Given the description of an element on the screen output the (x, y) to click on. 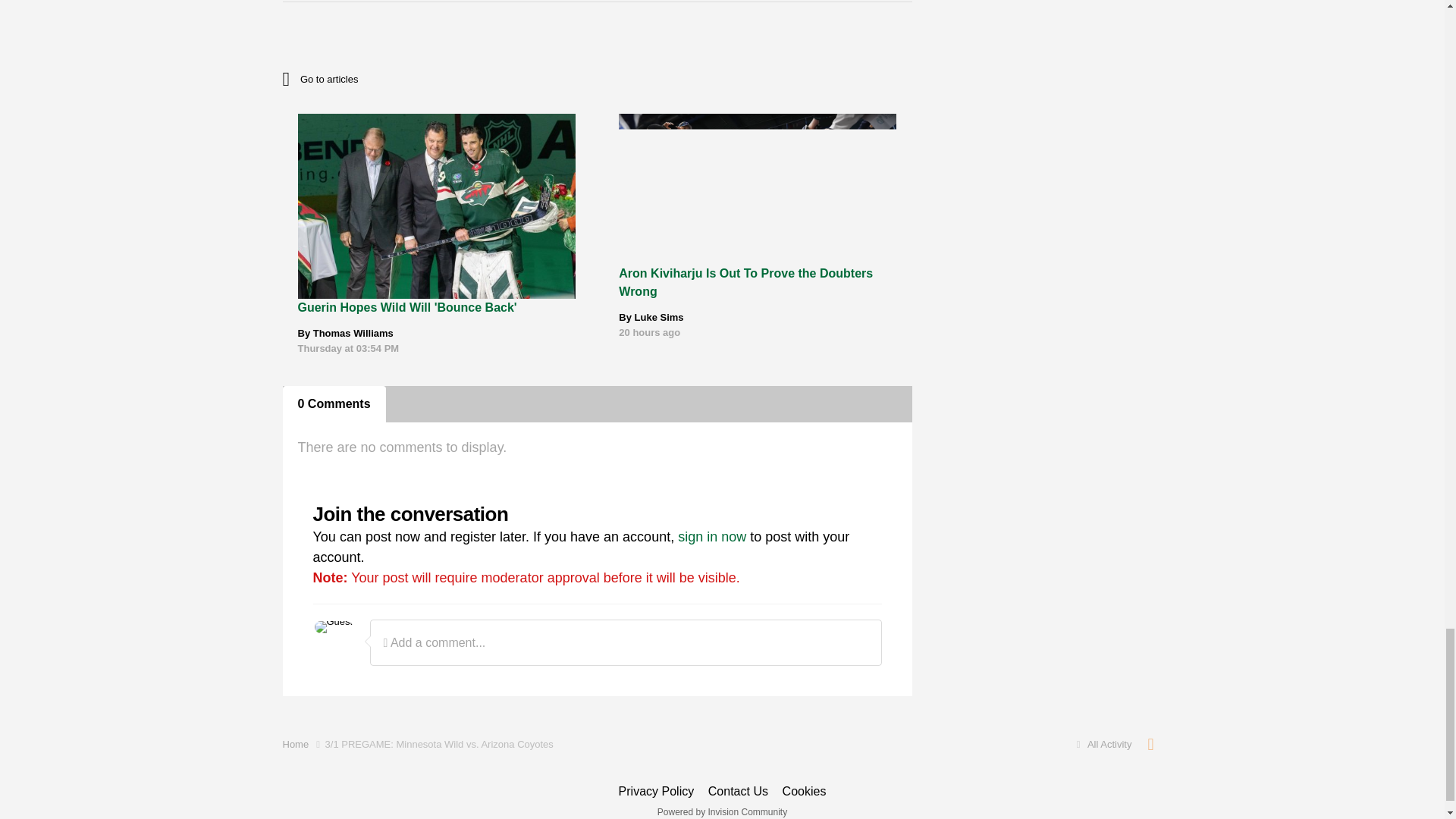
Read more about Guerin Hopes Wild Will 'Bounce Back' (406, 307)
Go to Thomas Williams's profile (353, 333)
0 Comments (333, 403)
Go to Luke Sims's profile (659, 317)
